Given the description of an element on the screen output the (x, y) to click on. 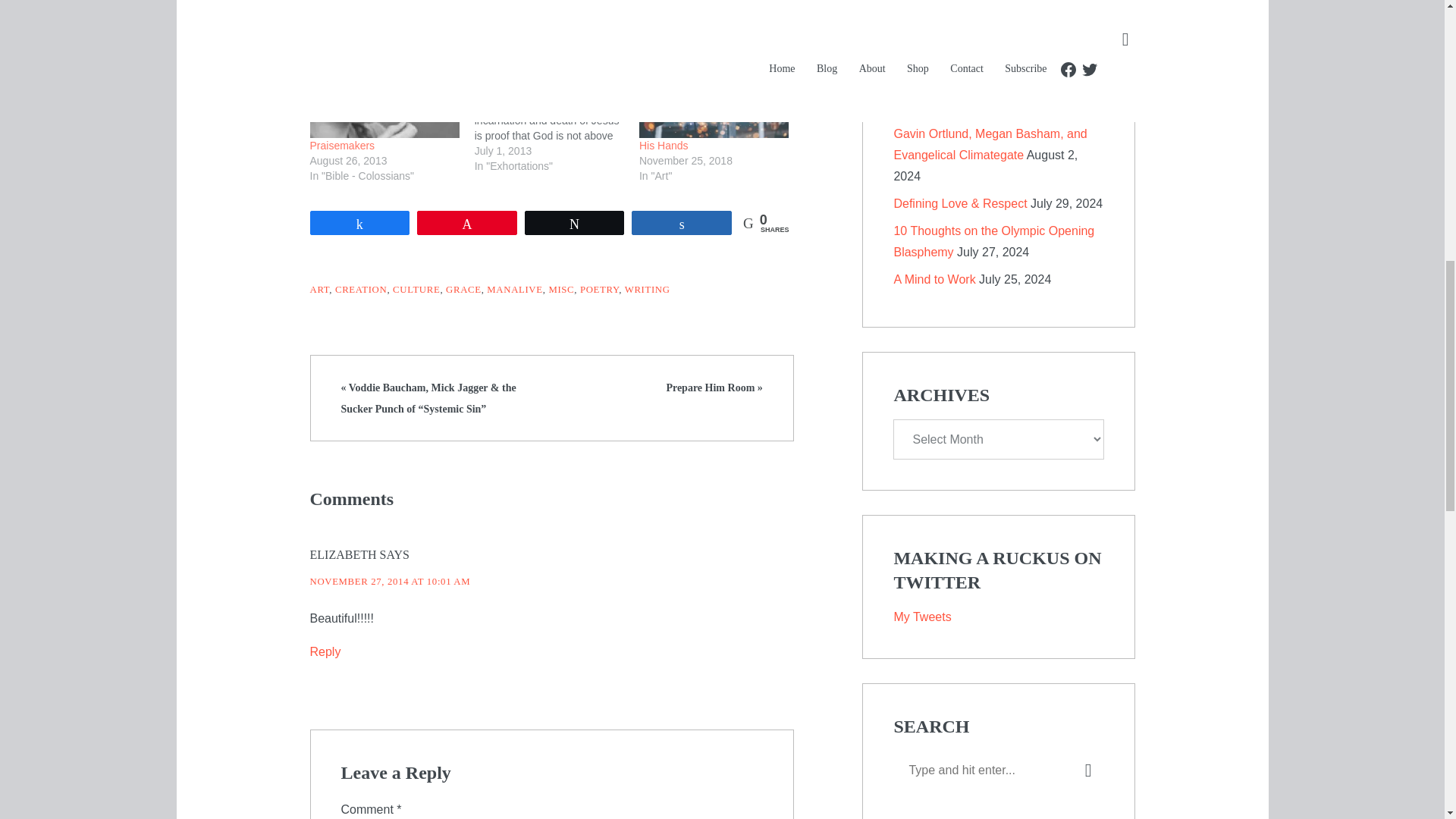
Praisemakers (341, 145)
Praisemakers (341, 145)
God is Not a Perfectionist (556, 112)
His Hands (714, 95)
CULTURE (416, 289)
POETRY (598, 289)
MANALIVE (513, 289)
His Hands (663, 145)
Praisemakers (383, 95)
God is Not a Perfectionist (534, 60)
